Given the description of an element on the screen output the (x, y) to click on. 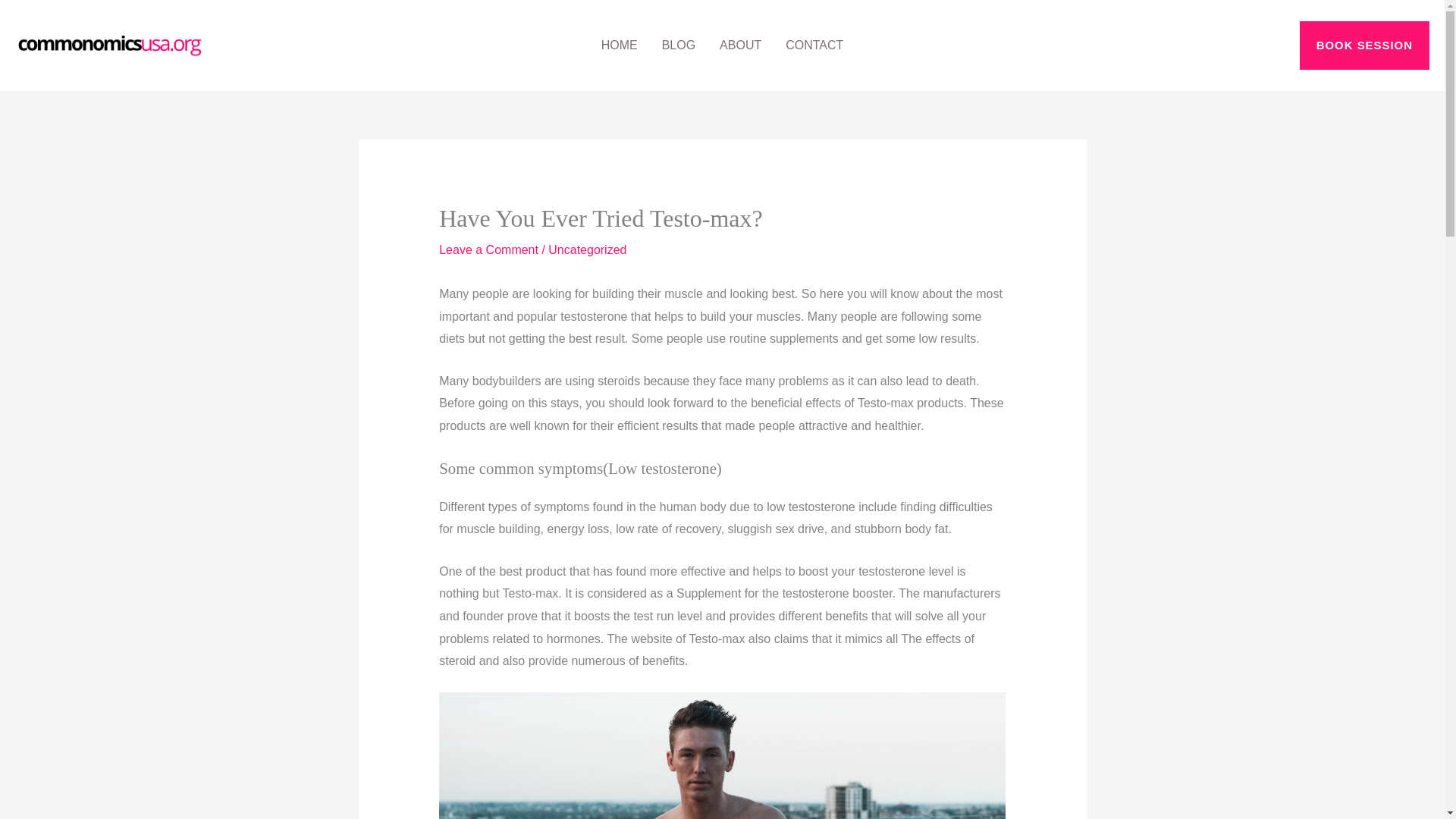
Uncategorized (587, 249)
BOOK SESSION (1364, 45)
CONTACT (814, 45)
Leave a Comment (488, 249)
